Given the description of an element on the screen output the (x, y) to click on. 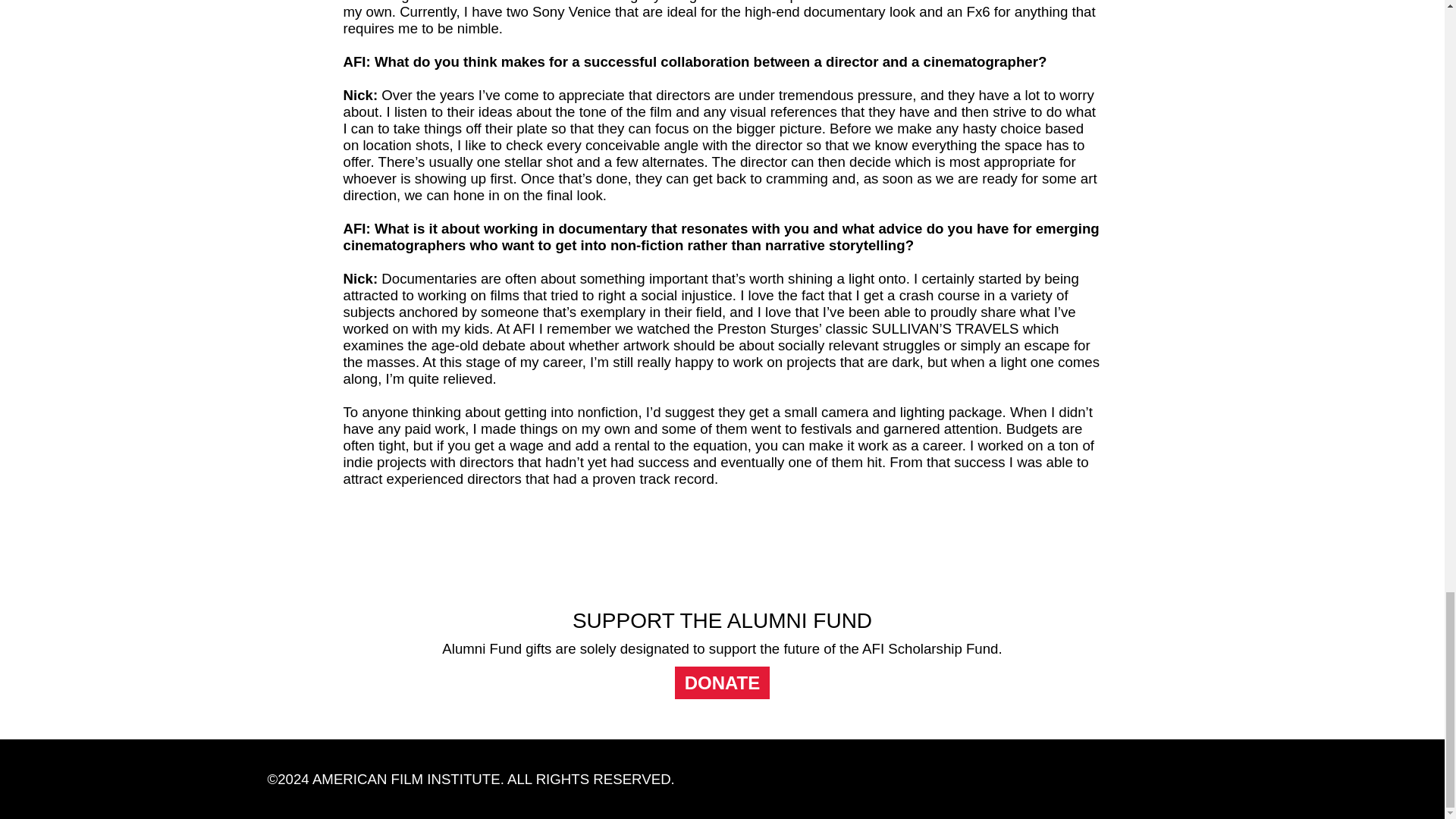
DONATE (722, 682)
